Given the description of an element on the screen output the (x, y) to click on. 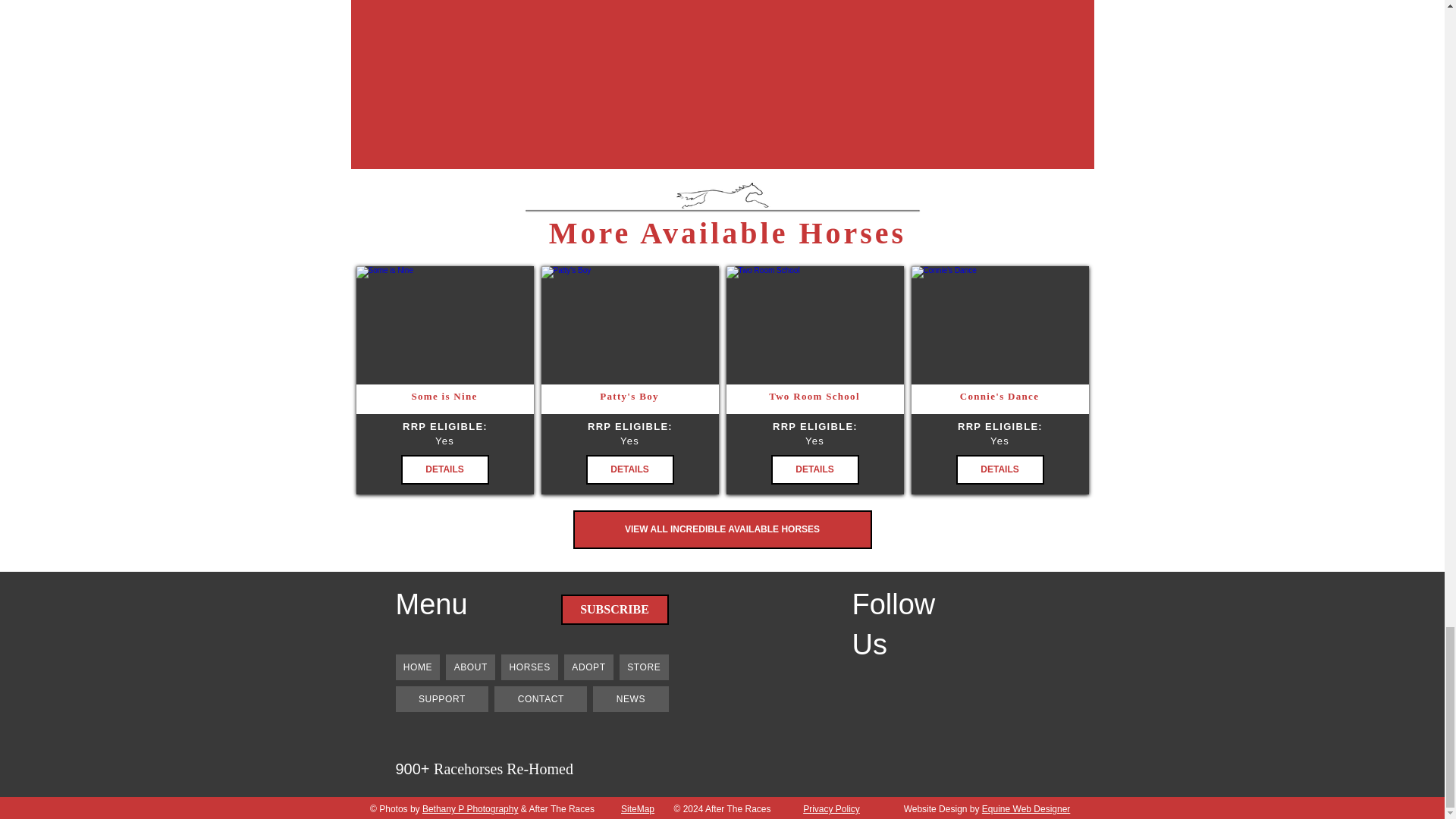
DETAILS (443, 469)
SUBSCRIBE (614, 609)
HOME (418, 667)
DETAILS (999, 469)
DETAILS (814, 469)
DETAILS (628, 469)
VIEW ALL INCREDIBLE AVAILABLE HORSES (722, 529)
